Given the description of an element on the screen output the (x, y) to click on. 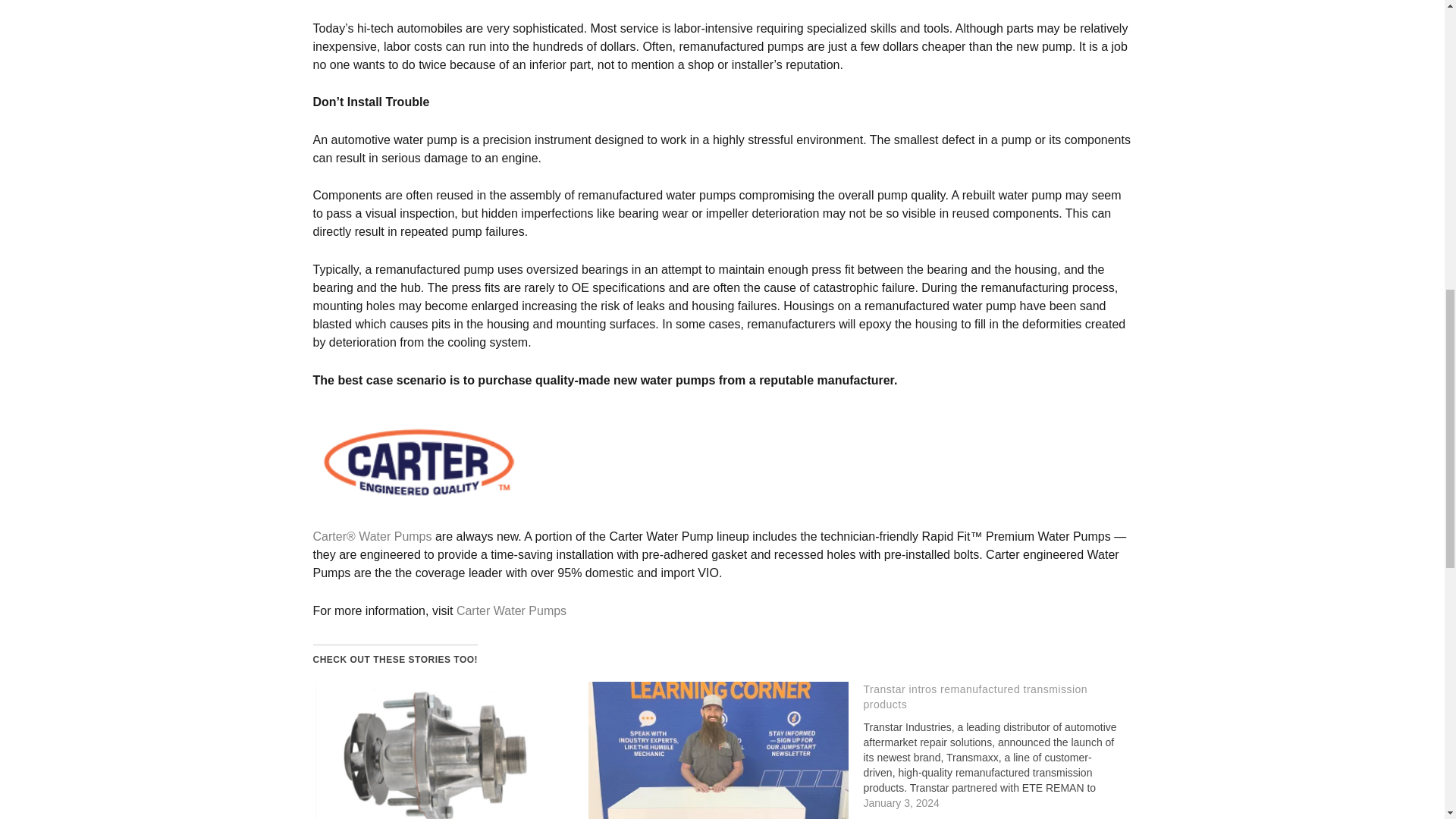
Transtar intros remanufactured transmission products (975, 696)
Transtar intros remanufactured transmission products (975, 696)
Carter Water Pumps (511, 610)
Transtar intros remanufactured transmission products (1000, 745)
The Humble Mechanic featured by CRP at AAPEX (718, 750)
